Given the description of an element on the screen output the (x, y) to click on. 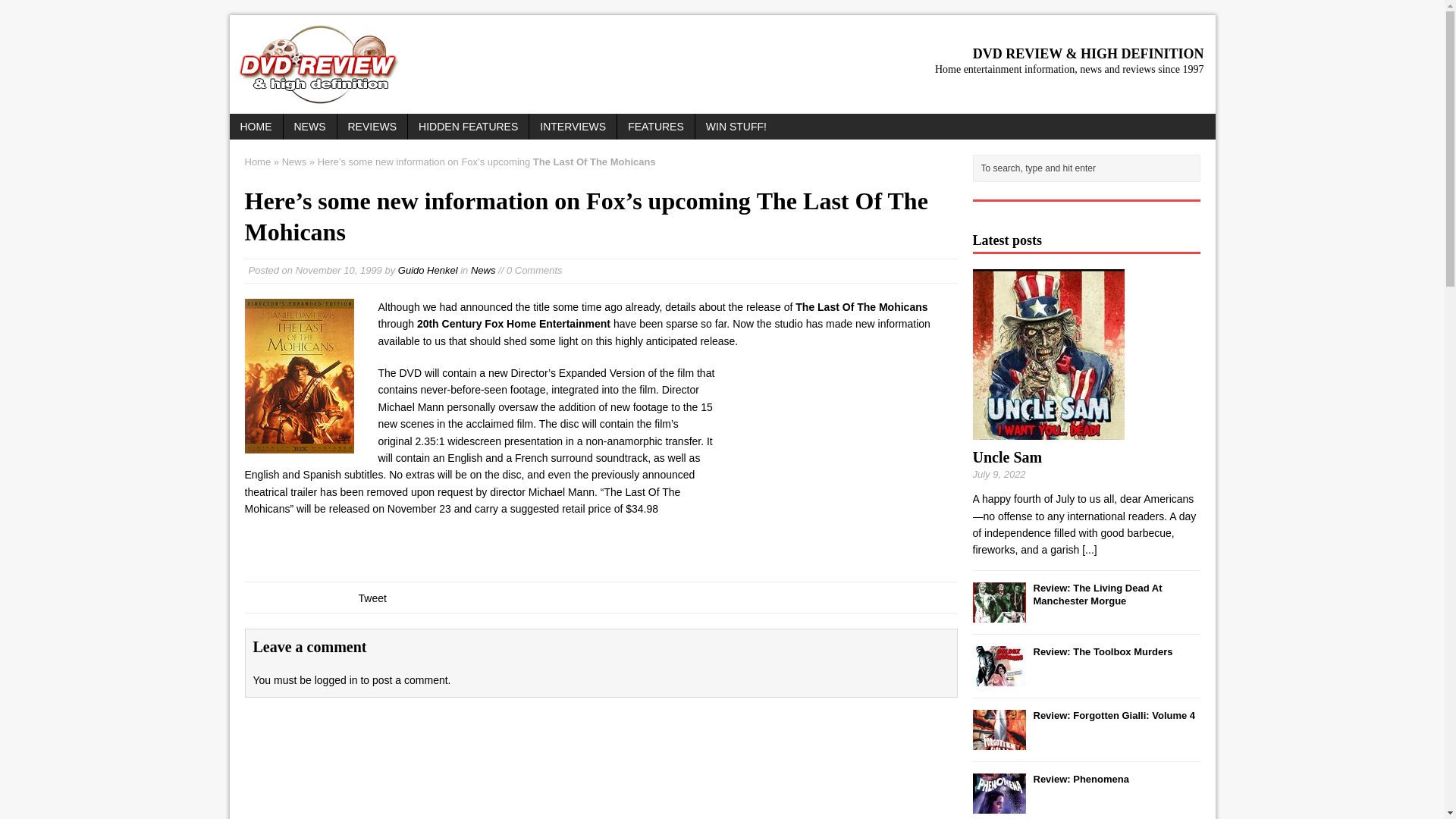
Forgotten Gialli: Volume 4 (998, 740)
The Toolbox Murders (1102, 651)
News (483, 270)
Review: The Toolbox Murders (1102, 651)
Review: Forgotten Gialli: Volume 4 (1113, 715)
INTERVIEWS (572, 126)
Home (257, 161)
Uncle Sam (1007, 457)
Guido Henkel (427, 270)
Posts by Guido Henkel (427, 270)
NEWS (309, 126)
HIDDEN FEATURES (467, 126)
Tweet (371, 598)
The Living Dead At Manchester Morgue (1096, 594)
The Living Dead At Manchester Morgue (998, 613)
